Given the description of an element on the screen output the (x, y) to click on. 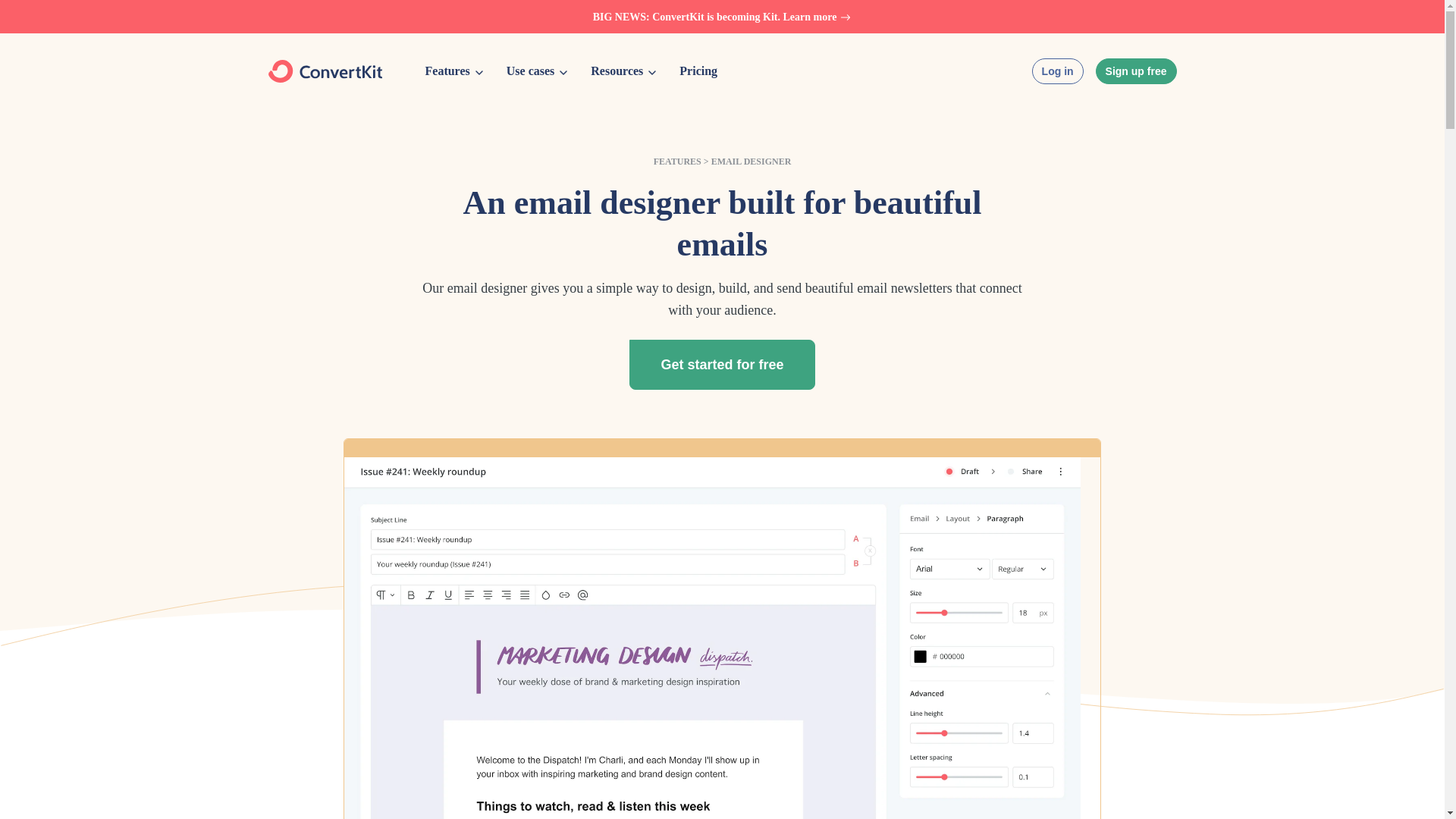
Resources (626, 71)
Features (456, 71)
Use cases (539, 71)
